Given the description of an element on the screen output the (x, y) to click on. 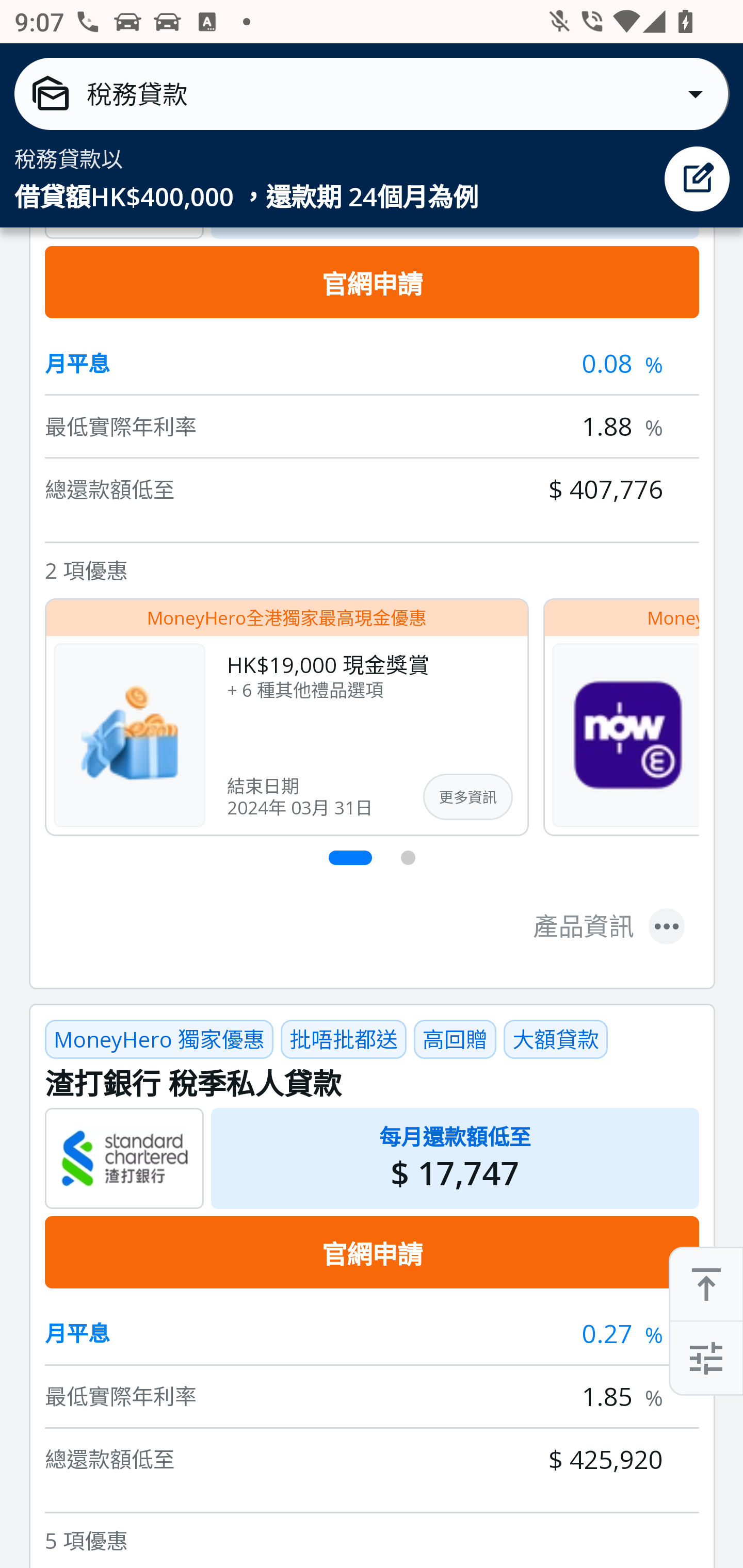
官網申請 (371, 283)
更多資訊 (467, 797)
Go to slide 1 (350, 858)
Go to slide 2 (408, 858)
產品資訊 more_horiz (609, 926)
官網申請 (371, 1253)
